Given the description of an element on the screen output the (x, y) to click on. 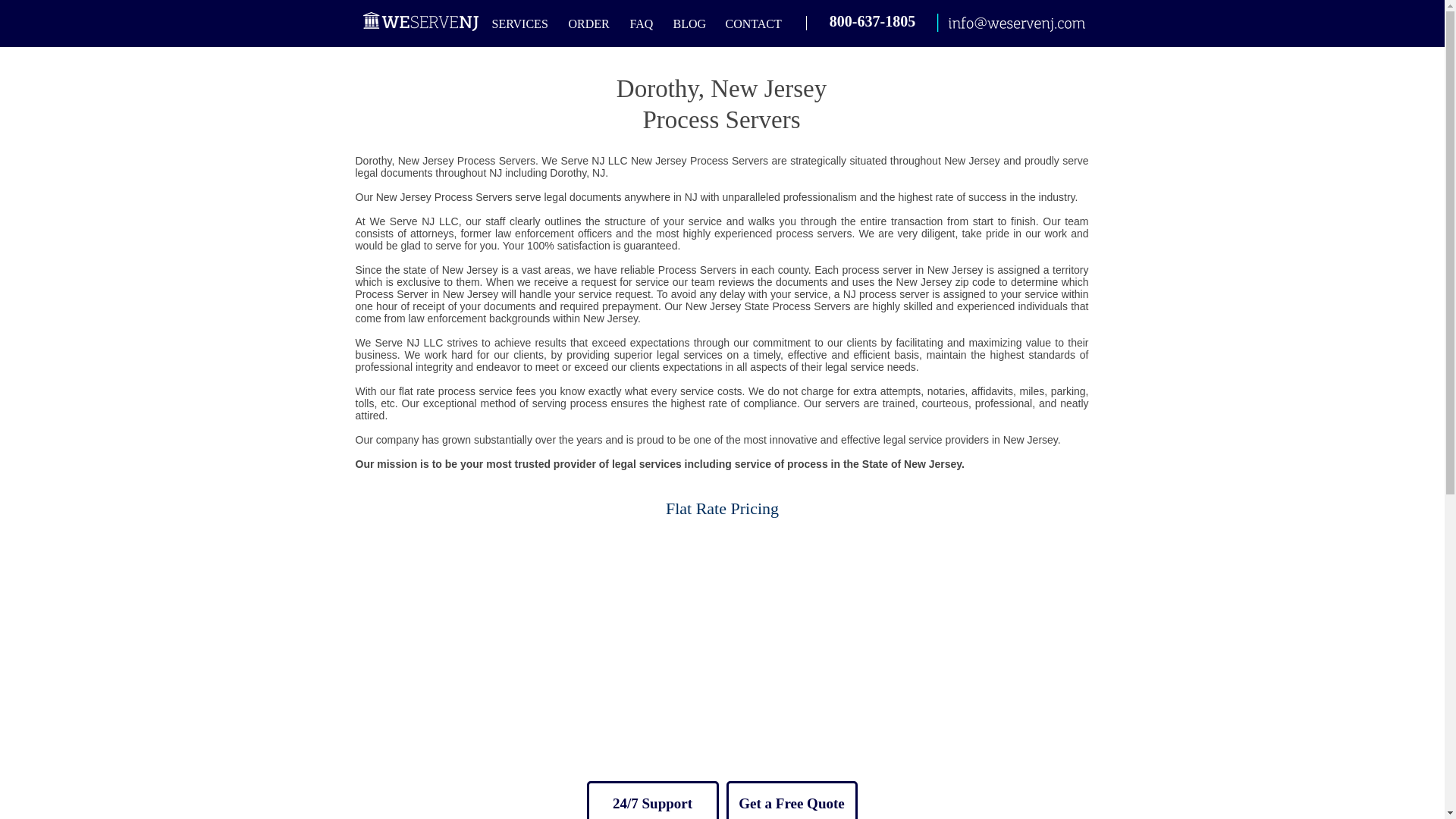
FAQ (641, 23)
Get a Free Quote (791, 800)
ORDER (590, 23)
BLOG (689, 23)
SERVICES (520, 23)
CONTACT (755, 23)
800-637-1805 (872, 21)
